Given the description of an element on the screen output the (x, y) to click on. 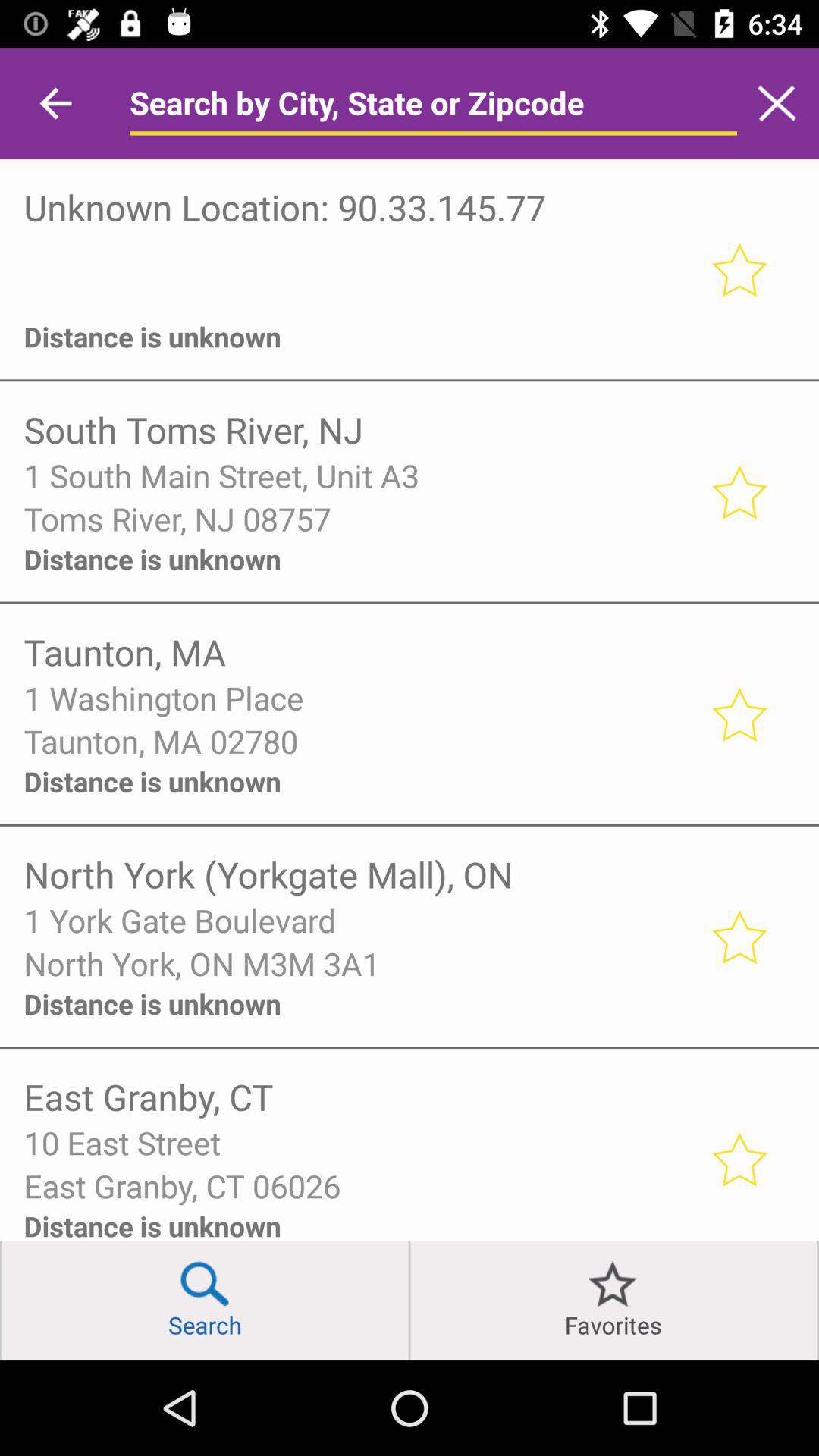
search bar inside the app (433, 103)
